Given the description of an element on the screen output the (x, y) to click on. 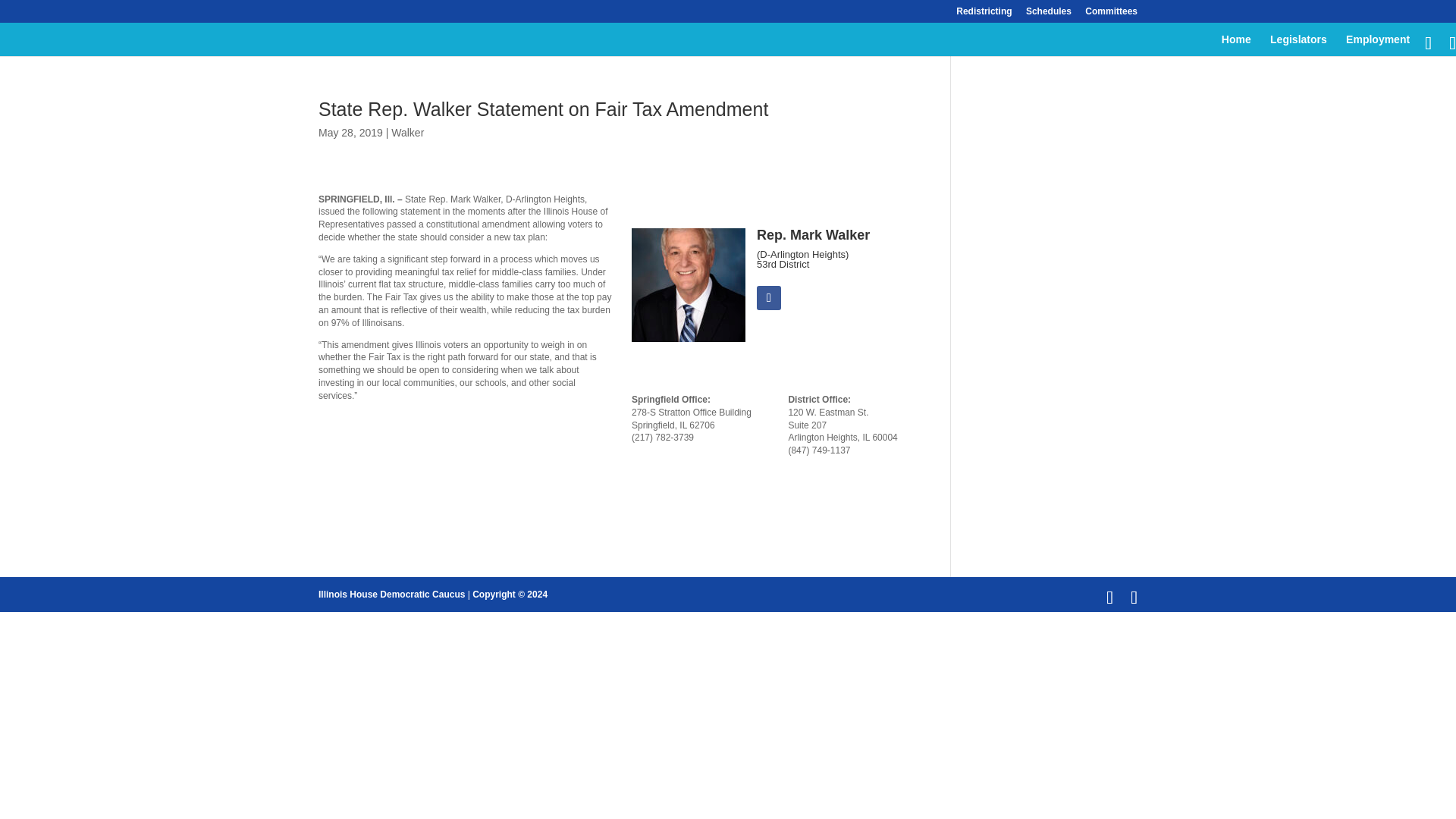
Committees (1110, 14)
Employment (1377, 45)
Redistricting (983, 14)
Follow on Facebook (768, 297)
Illinois House Democratic Caucus (391, 593)
Walker (407, 132)
Home (1235, 45)
Legislators (1297, 45)
Schedules (1048, 14)
IL House Democrats (391, 593)
